Given the description of an element on the screen output the (x, y) to click on. 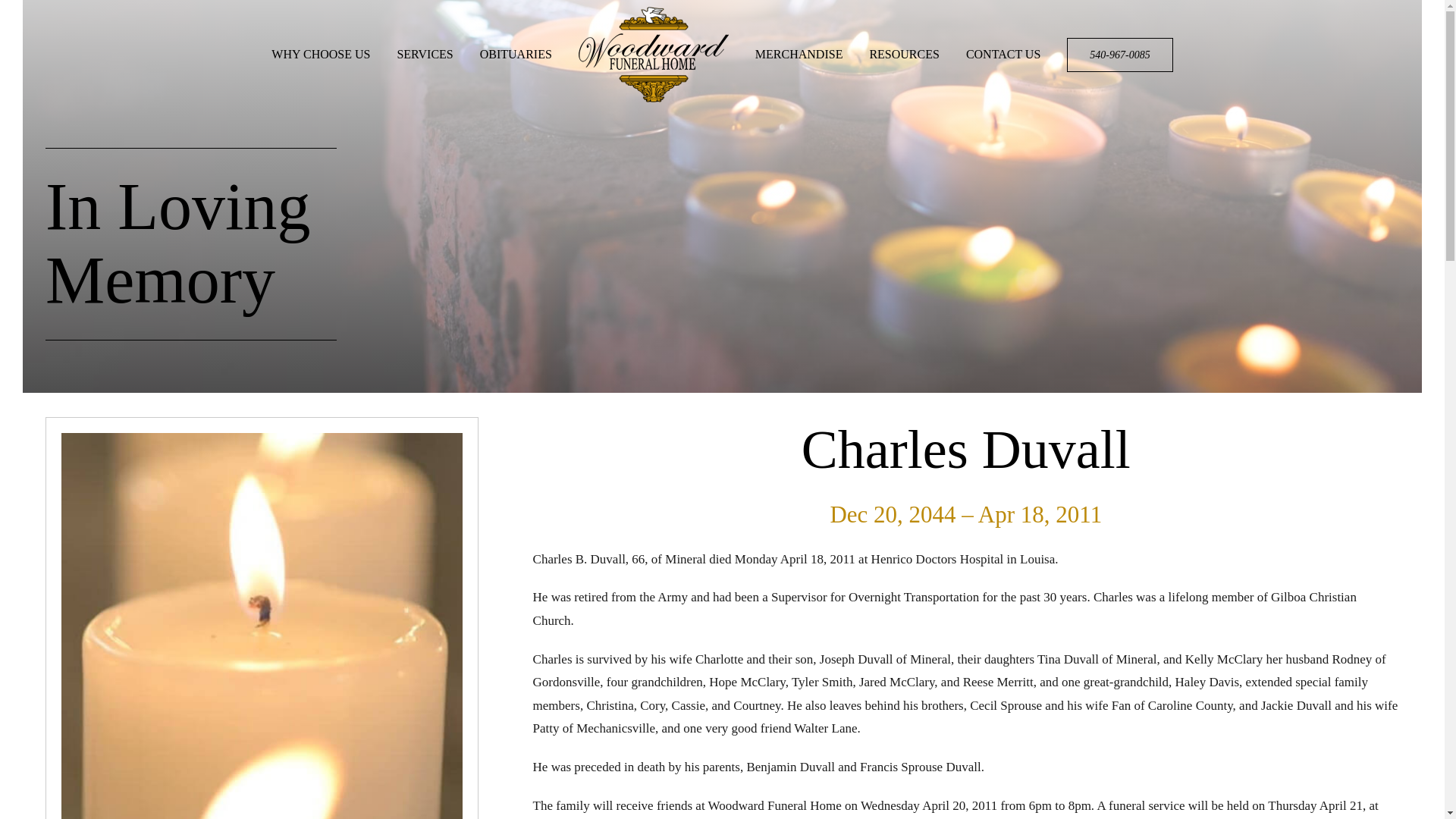
540-967-0085 (1119, 53)
